Given the description of an element on the screen output the (x, y) to click on. 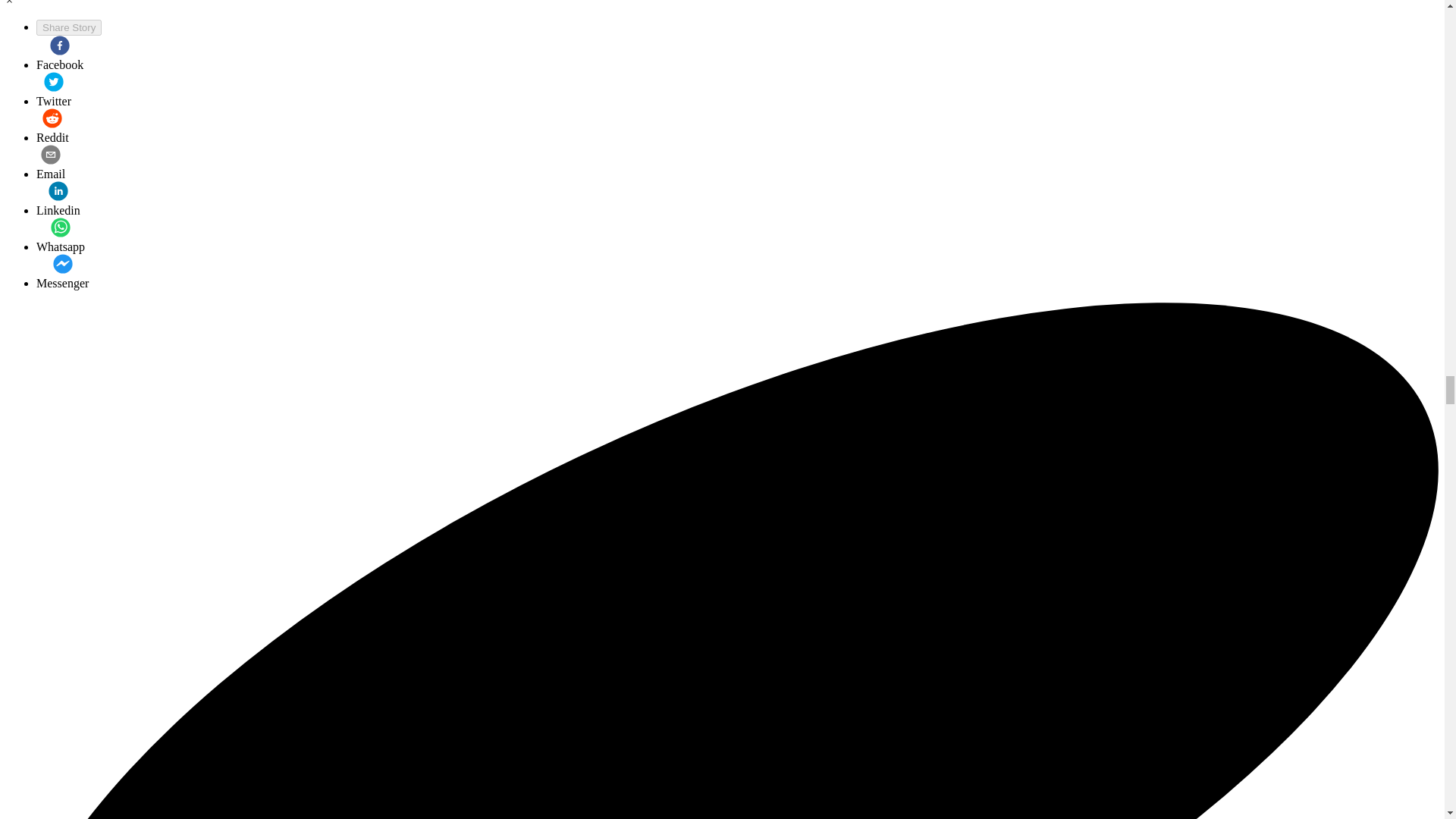
The Spinoff Hot Take Advent Calendar: December 20 (62, 271)
Facebook (59, 54)
Share Story (68, 27)
